Given the description of an element on the screen output the (x, y) to click on. 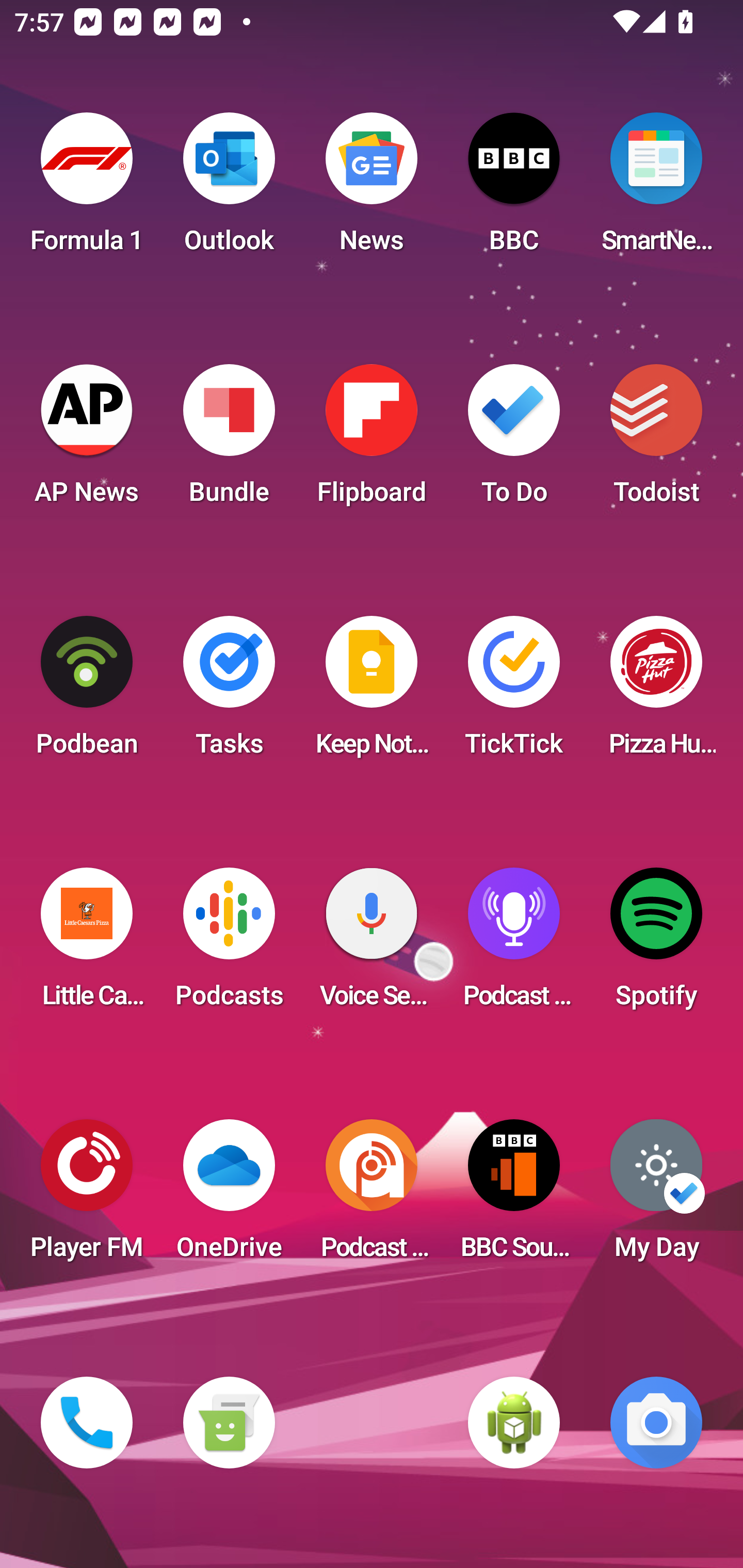
Formula 1 (86, 188)
Outlook (228, 188)
News (371, 188)
BBC (513, 188)
SmartNews (656, 188)
AP News (86, 440)
Bundle (228, 440)
Flipboard (371, 440)
To Do (513, 440)
Todoist (656, 440)
Podbean (86, 692)
Tasks (228, 692)
Keep Notes (371, 692)
TickTick (513, 692)
Pizza Hut HK & Macau (656, 692)
Little Caesars Pizza (86, 943)
Podcasts (228, 943)
Voice Search (371, 943)
Podcast Player (513, 943)
Spotify (656, 943)
Player FM (86, 1195)
OneDrive (228, 1195)
Podcast Addict (371, 1195)
BBC Sounds (513, 1195)
My Day (656, 1195)
Phone (86, 1422)
Messaging (228, 1422)
WebView Browser Tester (513, 1422)
Camera (656, 1422)
